Given the description of an element on the screen output the (x, y) to click on. 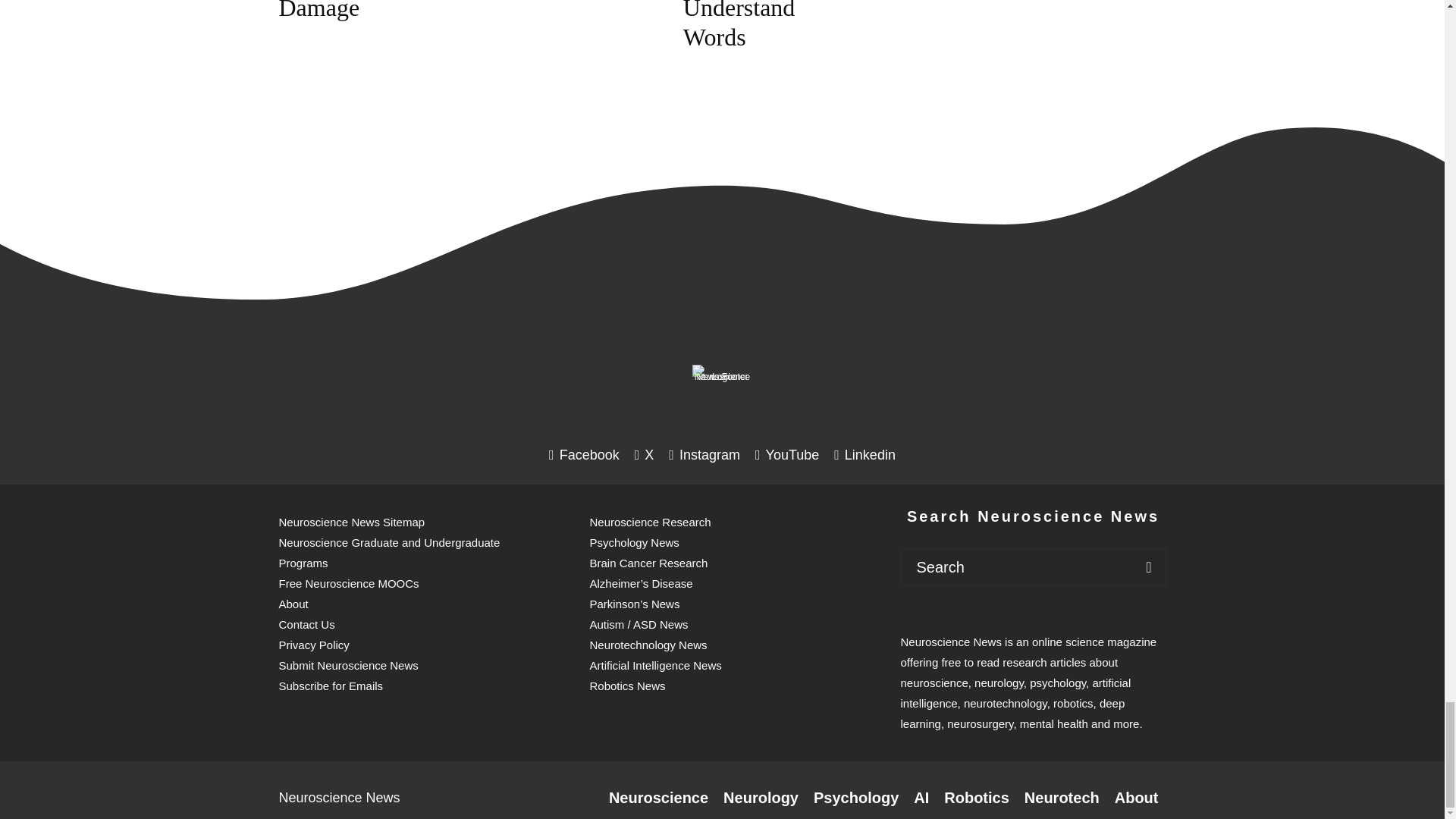
Neuroscience Research (657, 797)
Neurology Research Articles (760, 797)
Psychology Research Articles (855, 797)
